Given the description of an element on the screen output the (x, y) to click on. 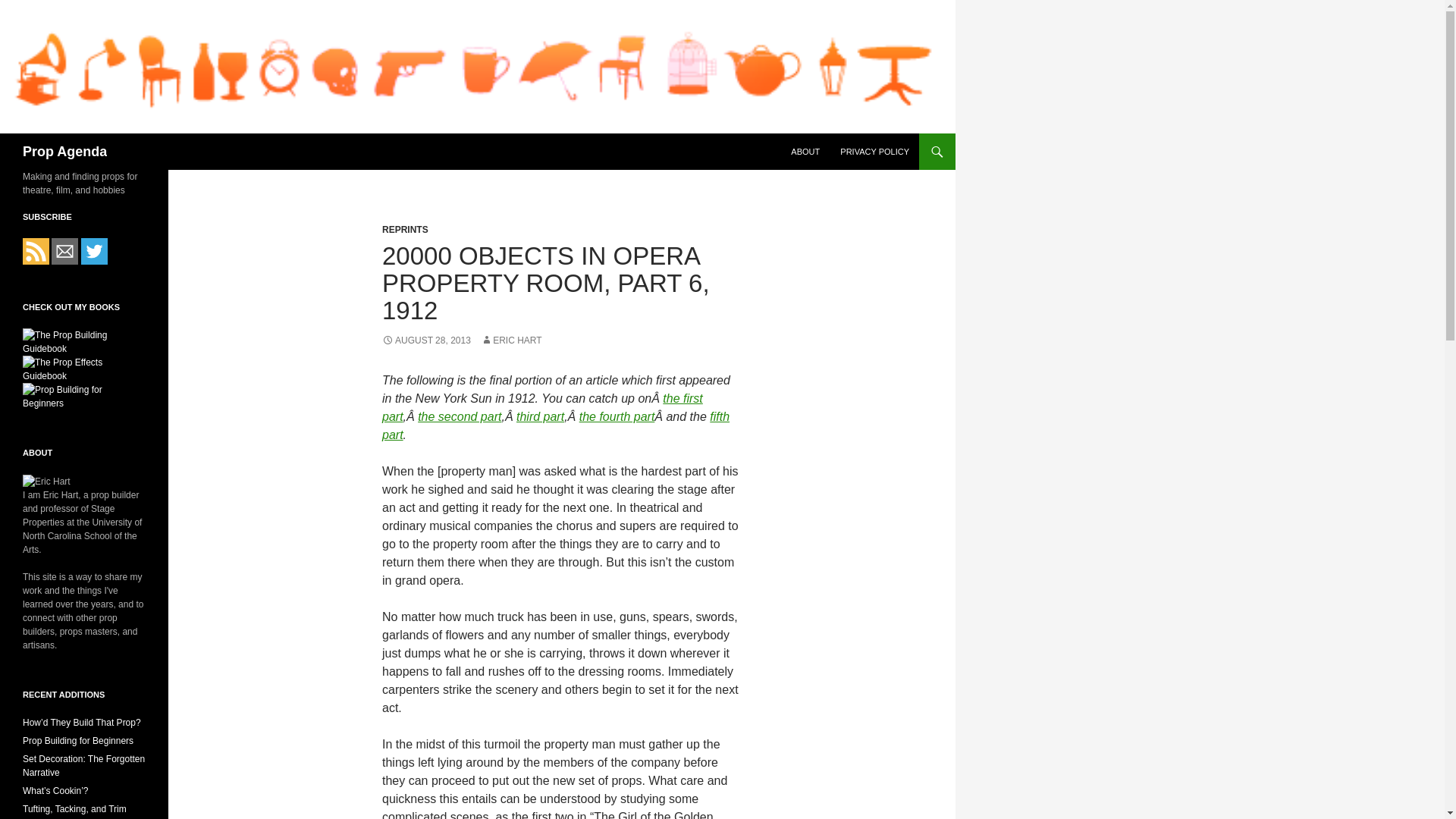
ABOUT (804, 151)
AUGUST 28, 2013 (425, 339)
third part (540, 416)
the first part (542, 407)
PRIVACY POLICY (874, 151)
Prop Agenda (64, 151)
Set Decoration: The Forgotten Narrative (83, 765)
ERIC HART (510, 339)
REPRINTS (404, 229)
fifth part (555, 425)
the fourth part (617, 416)
the second part (458, 416)
Prop Building for Beginners (78, 740)
